Given the description of an element on the screen output the (x, y) to click on. 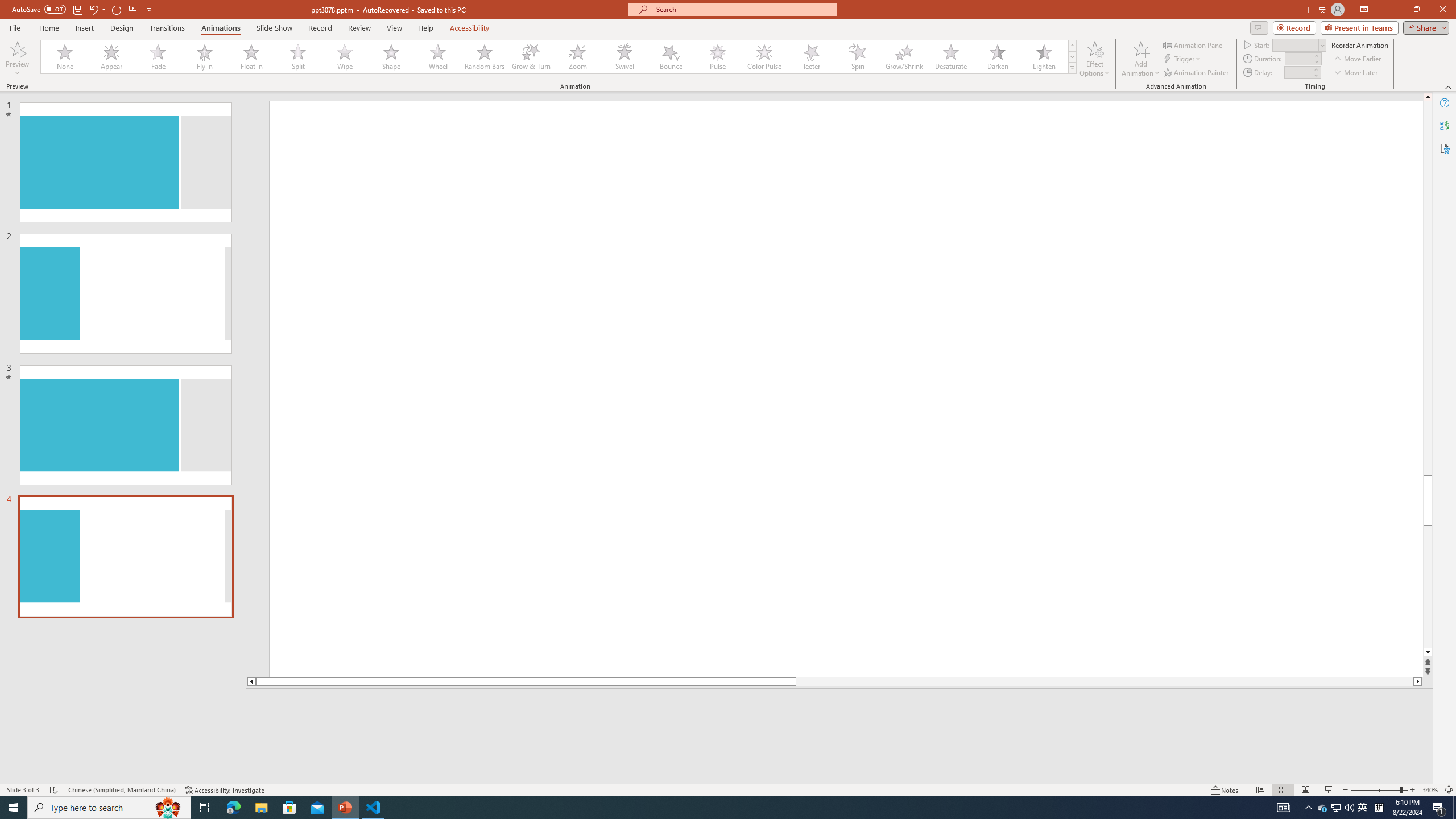
Grow/Shrink (903, 56)
Grow & Turn (531, 56)
Add Animation (1141, 58)
Fly In (205, 56)
